Given the description of an element on the screen output the (x, y) to click on. 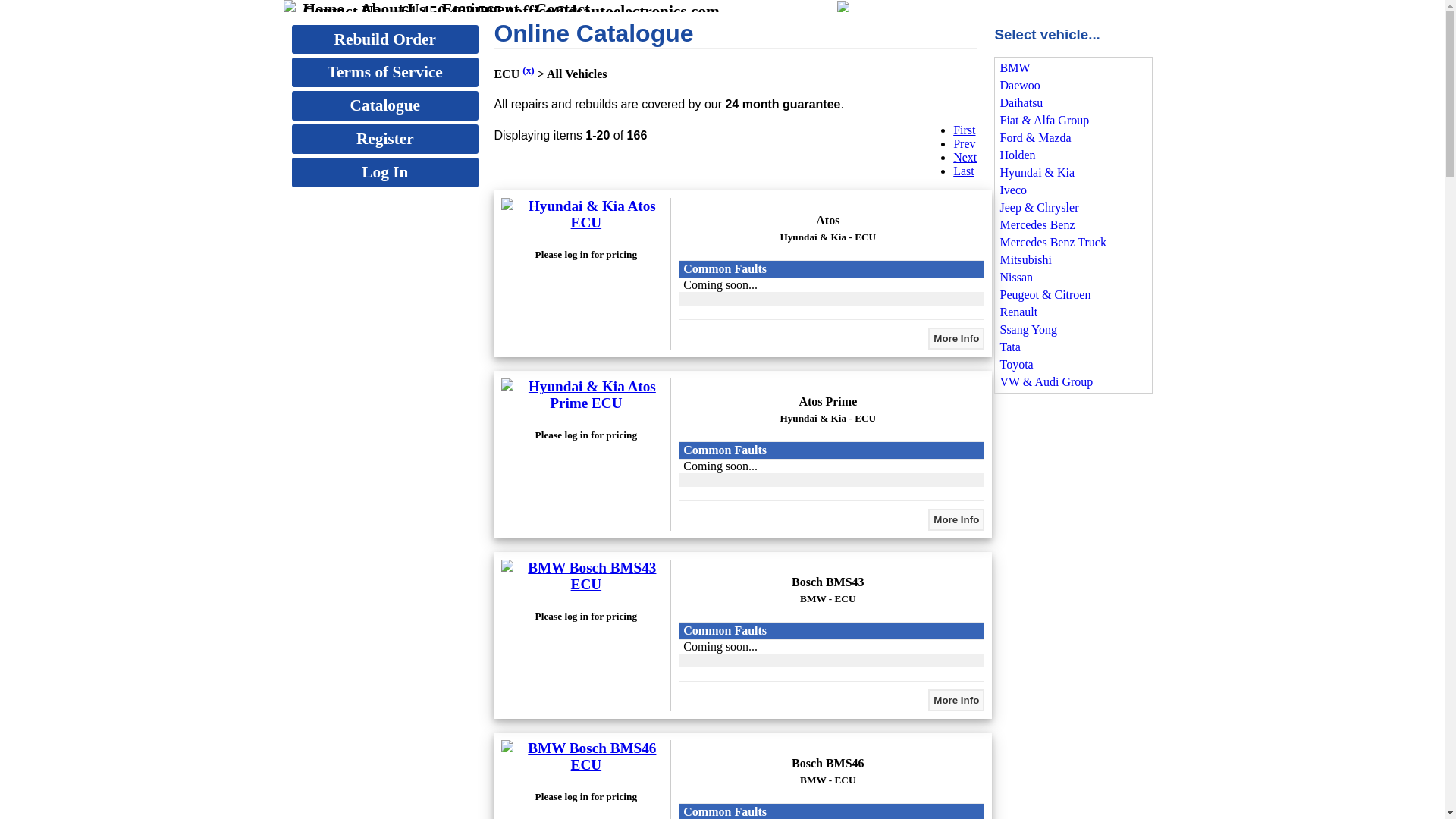
Ssang Yong Element type: text (1072, 329)
Mitsubishi Element type: text (1072, 260)
Next Element type: text (964, 156)
+61 450 462 565 Element type: text (447, 11)
Toyota Element type: text (1072, 364)
Ford & Mazda Element type: text (1072, 138)
Daewoo Element type: text (1072, 85)
Last Element type: text (963, 170)
First Element type: text (964, 129)
About Us Element type: text (392, 9)
Contact Element type: text (562, 9)
Jeep & Chrysler Element type: text (1072, 207)
Online Catalogue Element type: text (734, 33)
Hyundai & Kia Element type: text (1072, 173)
(x) Element type: text (528, 69)
BMW Element type: text (1072, 68)
Mercedes Benz Truck Element type: text (1072, 242)
Iveco Element type: text (1072, 190)
Fiat & Alfa Group Element type: text (1072, 120)
Home Element type: text (324, 9)
Peugeot & Citroen Element type: text (1072, 295)
Catalogue Element type: text (379, 105)
Prev Element type: text (964, 143)
Renault Element type: text (1072, 312)
Log In Element type: text (379, 172)
Register Element type: text (379, 138)
Tata Element type: text (1072, 347)
Rebuild Order Element type: text (379, 39)
Daihatsu Element type: text (1072, 103)
Terms of Service Element type: text (379, 72)
Mercedes Benz Element type: text (1072, 225)
Equipment Element type: text (480, 9)
office@dsautoelectronics.com Element type: text (616, 11)
Nissan Element type: text (1072, 277)
VW & Audi Group Element type: text (1072, 382)
Holden Element type: text (1072, 155)
